Given the description of an element on the screen output the (x, y) to click on. 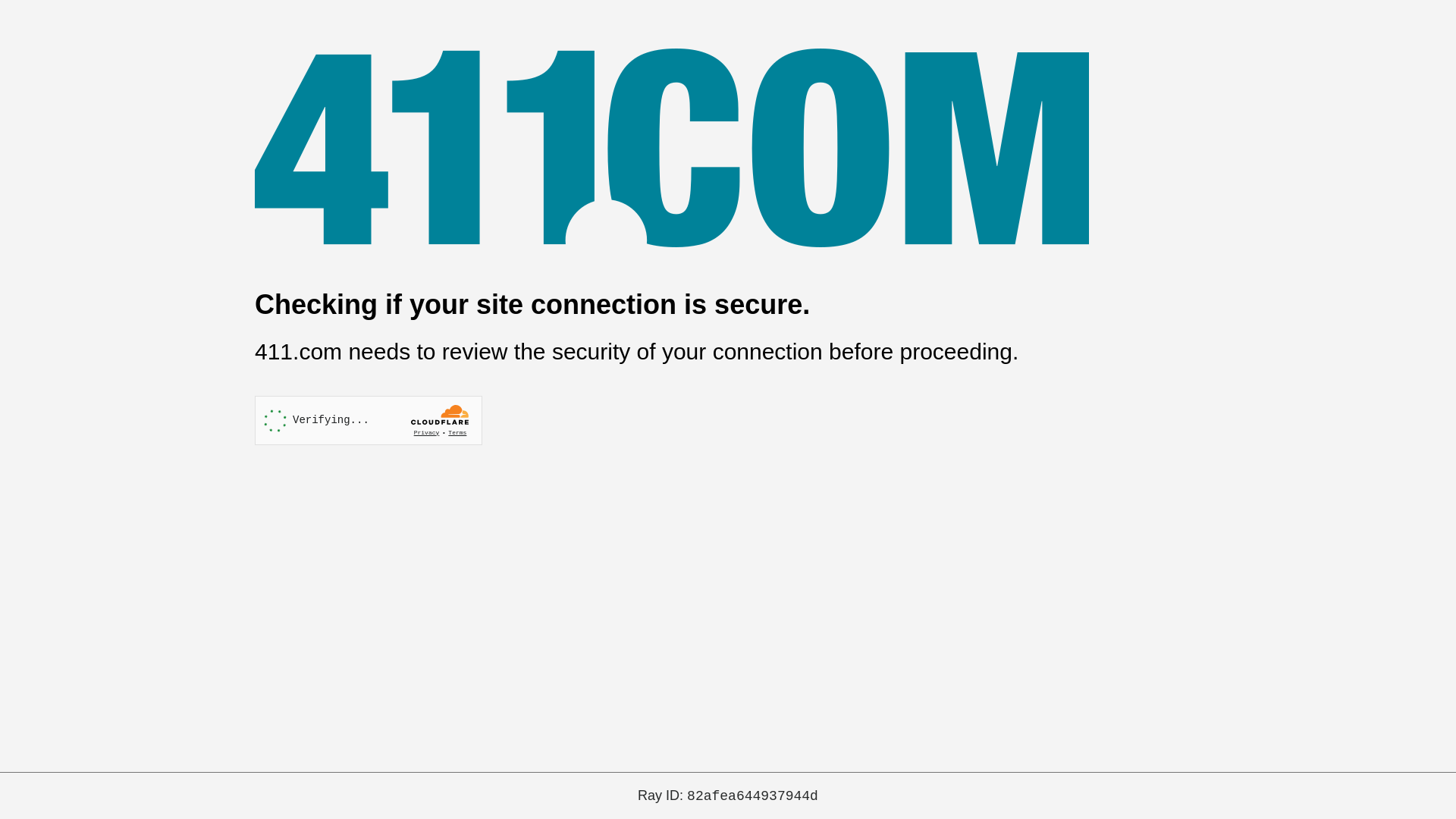
Widget containing a Cloudflare security challenge Element type: hover (368, 420)
